Given the description of an element on the screen output the (x, y) to click on. 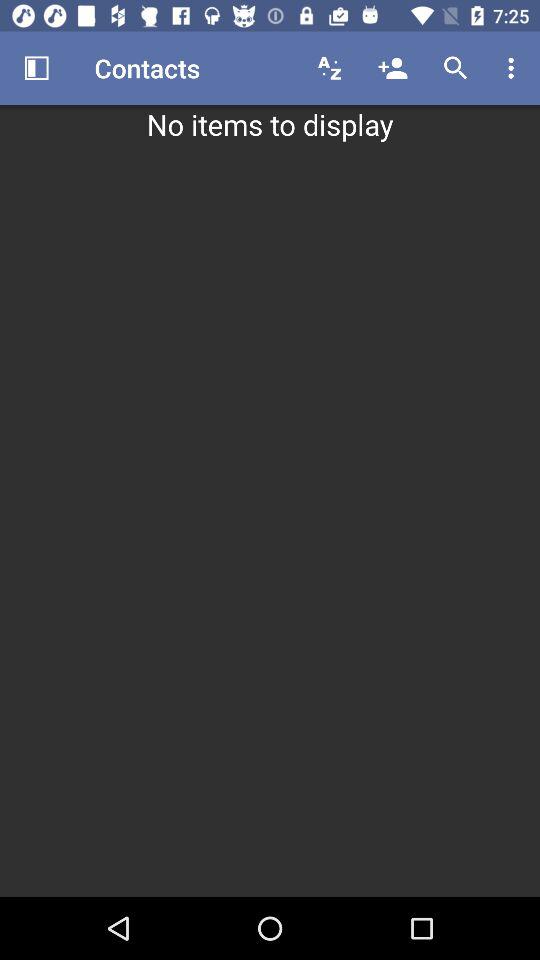
select the item to the right of contacts item (329, 67)
